Given the description of an element on the screen output the (x, y) to click on. 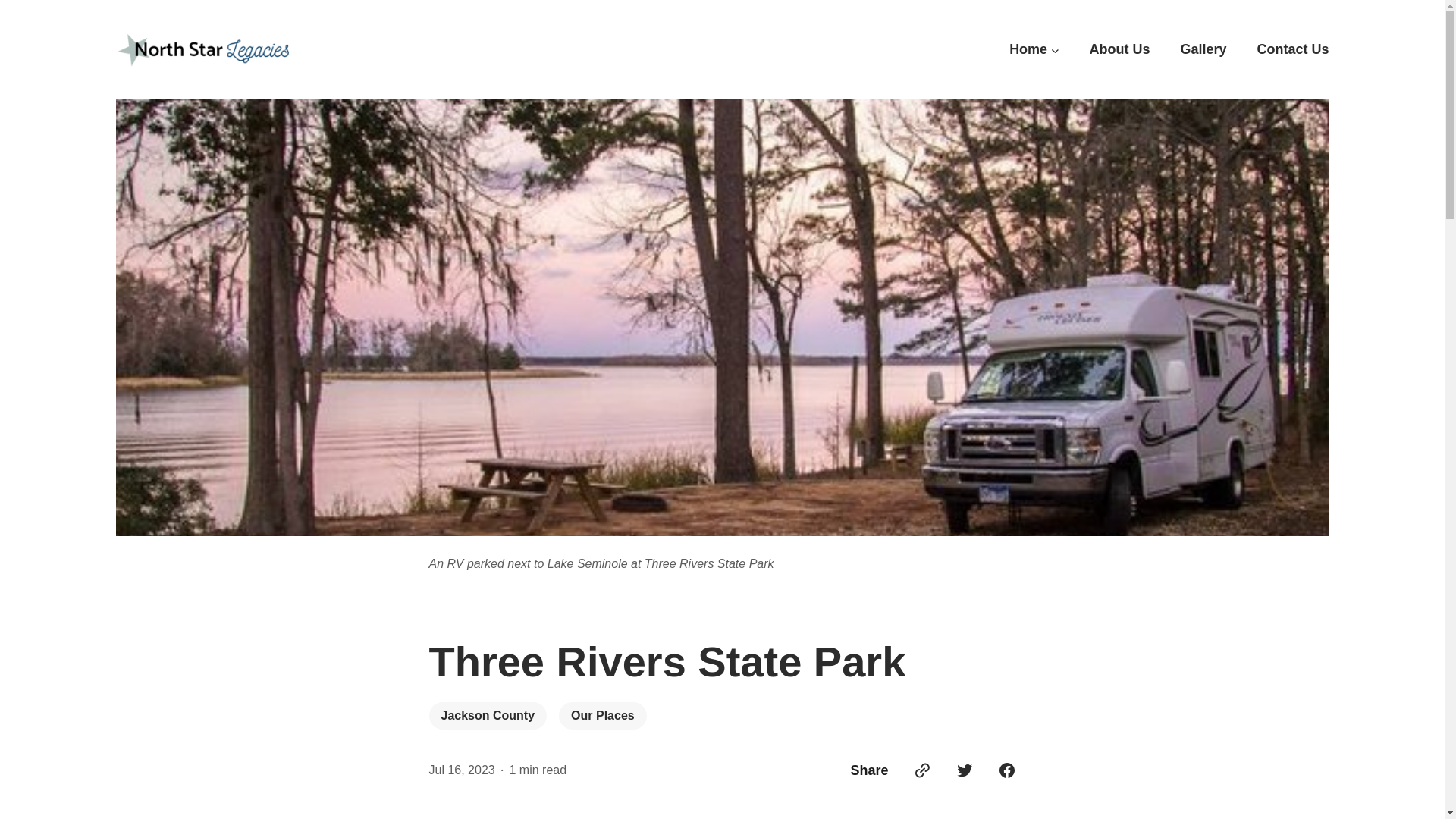
Contact Us (1291, 49)
Facebook (1006, 770)
Home (1027, 49)
Our Places (602, 715)
Gallery (1202, 49)
Twitter (964, 770)
Jackson County (488, 715)
Link (921, 770)
About Us (1119, 49)
